Given the description of an element on the screen output the (x, y) to click on. 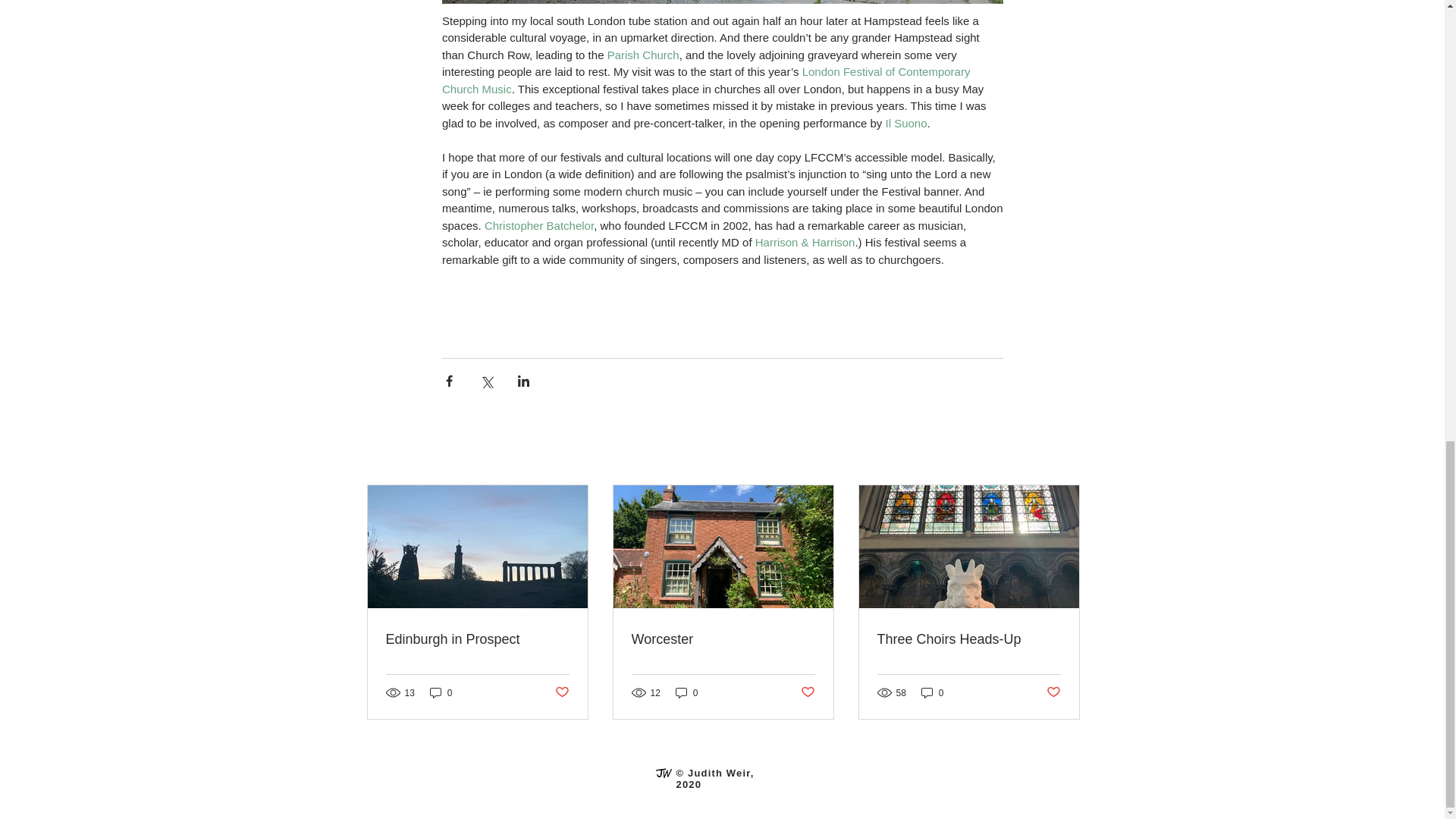
Three Choirs Heads-Up (967, 639)
0 (932, 692)
London Festival of Contemporary Church Music (706, 80)
Worcester (721, 639)
Post not marked as liked (1053, 692)
Il Suono (905, 122)
0 (687, 692)
Post not marked as liked (561, 692)
Parish Church (642, 53)
Christopher Batchelor (537, 225)
